Given the description of an element on the screen output the (x, y) to click on. 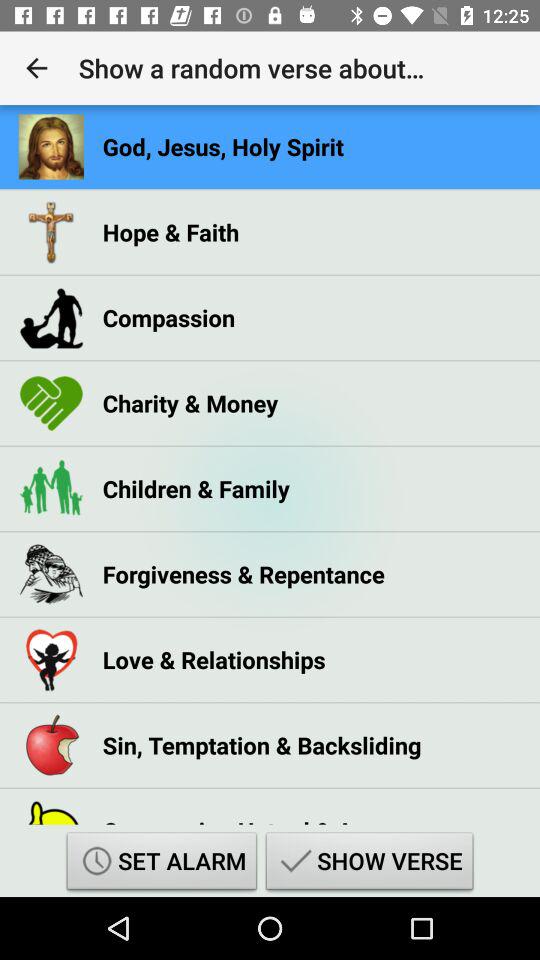
open the sin, temptation & backsliding icon (261, 745)
